Given the description of an element on the screen output the (x, y) to click on. 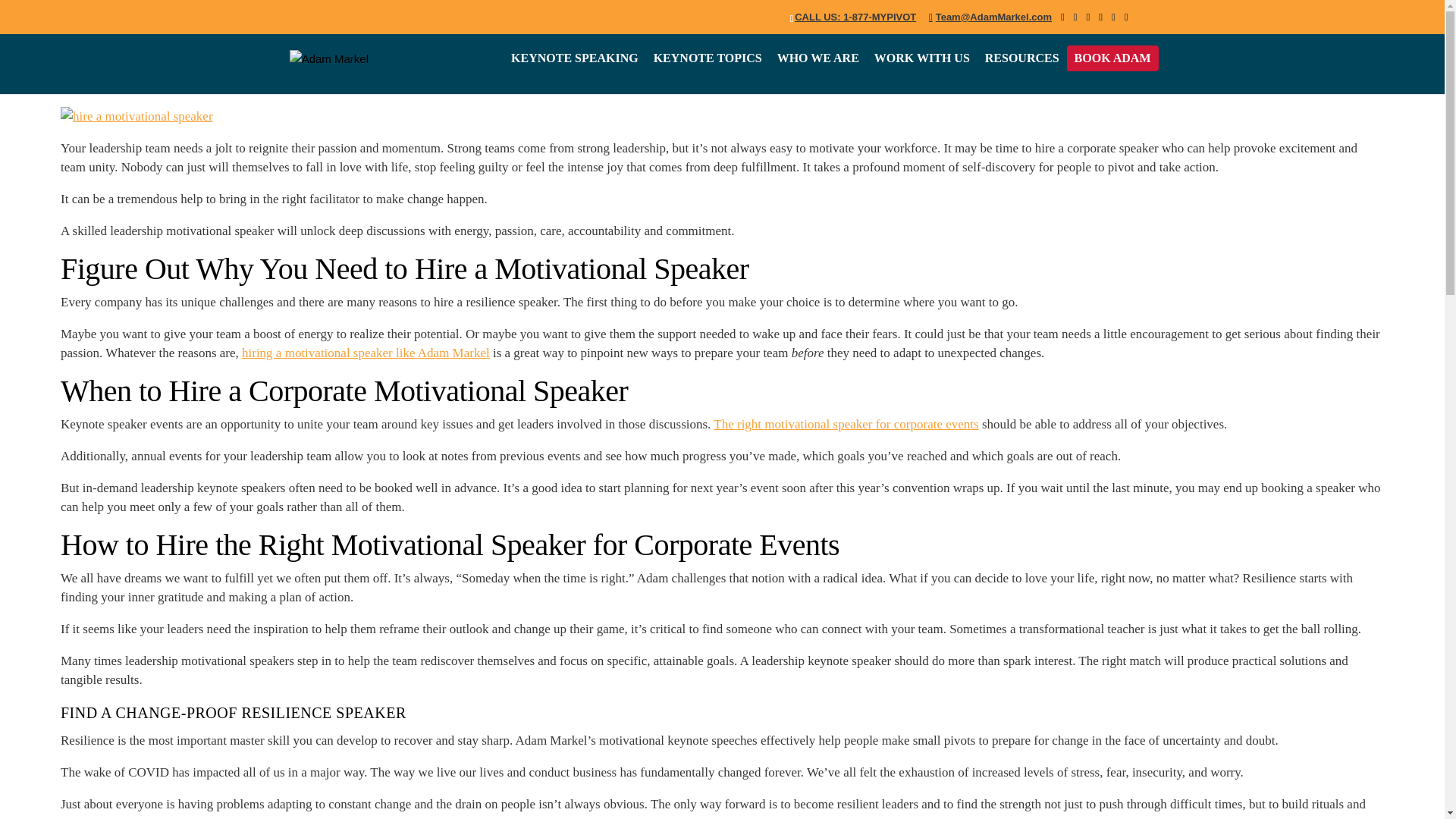
CALL US: 1-877-MYPIVOT (854, 16)
WHO WE ARE (818, 57)
KEYNOTE SPEAKING (575, 57)
KEYNOTE TOPICS (707, 57)
